Given the description of an element on the screen output the (x, y) to click on. 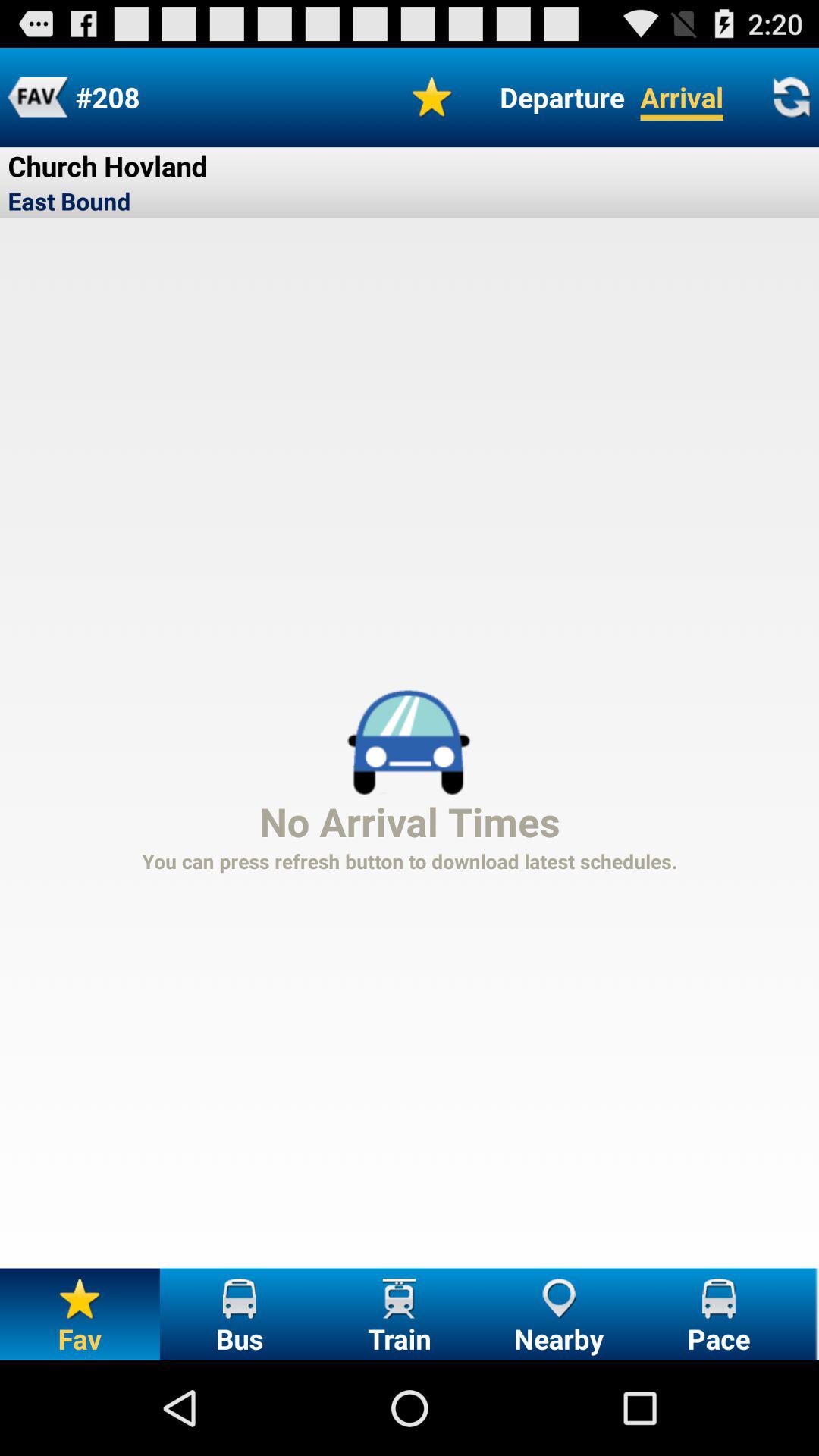
select app to the right of #208 app (432, 97)
